Given the description of an element on the screen output the (x, y) to click on. 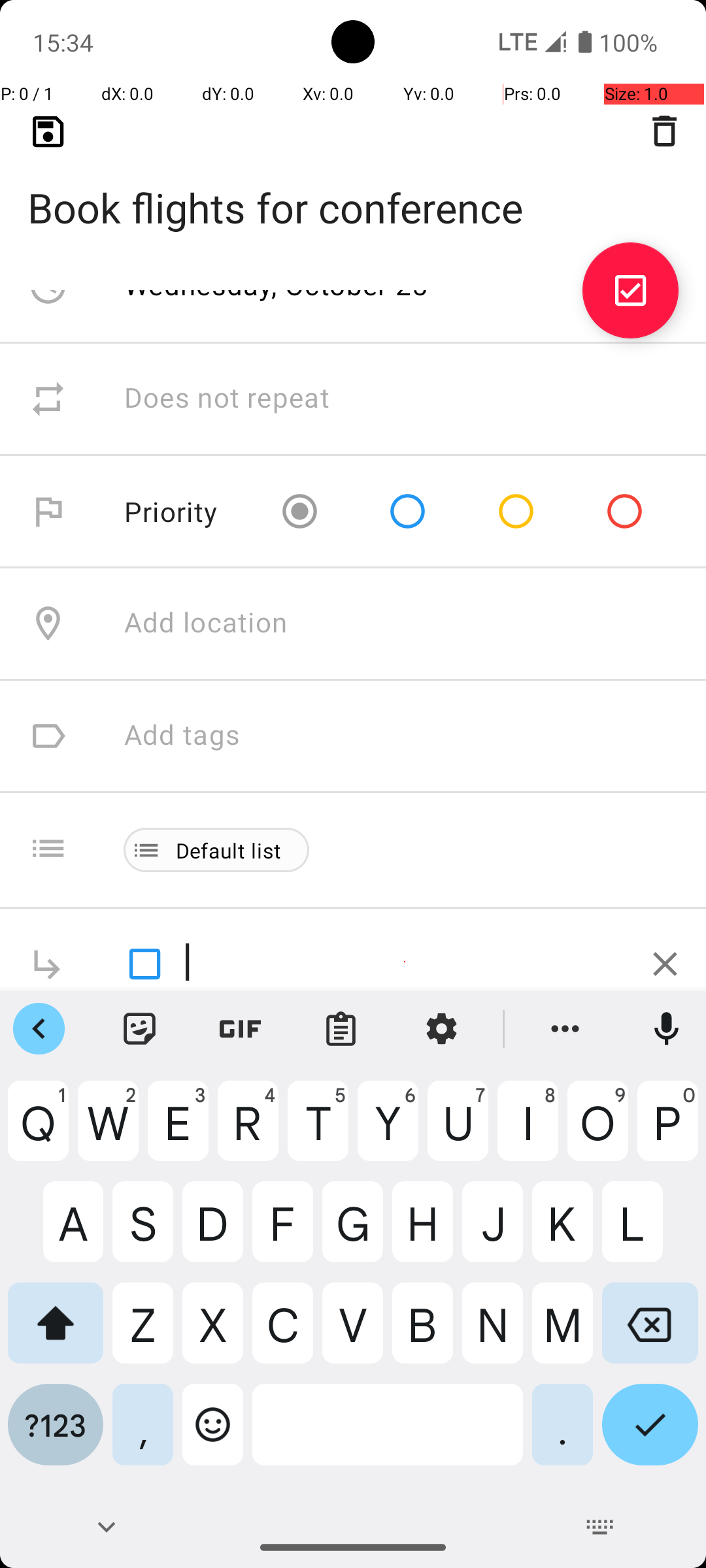
Book flights for conference Element type: android.widget.EditText (353, 186)
Wednesday, October 25 Element type: android.widget.TextView (276, 284)
